Given the description of an element on the screen output the (x, y) to click on. 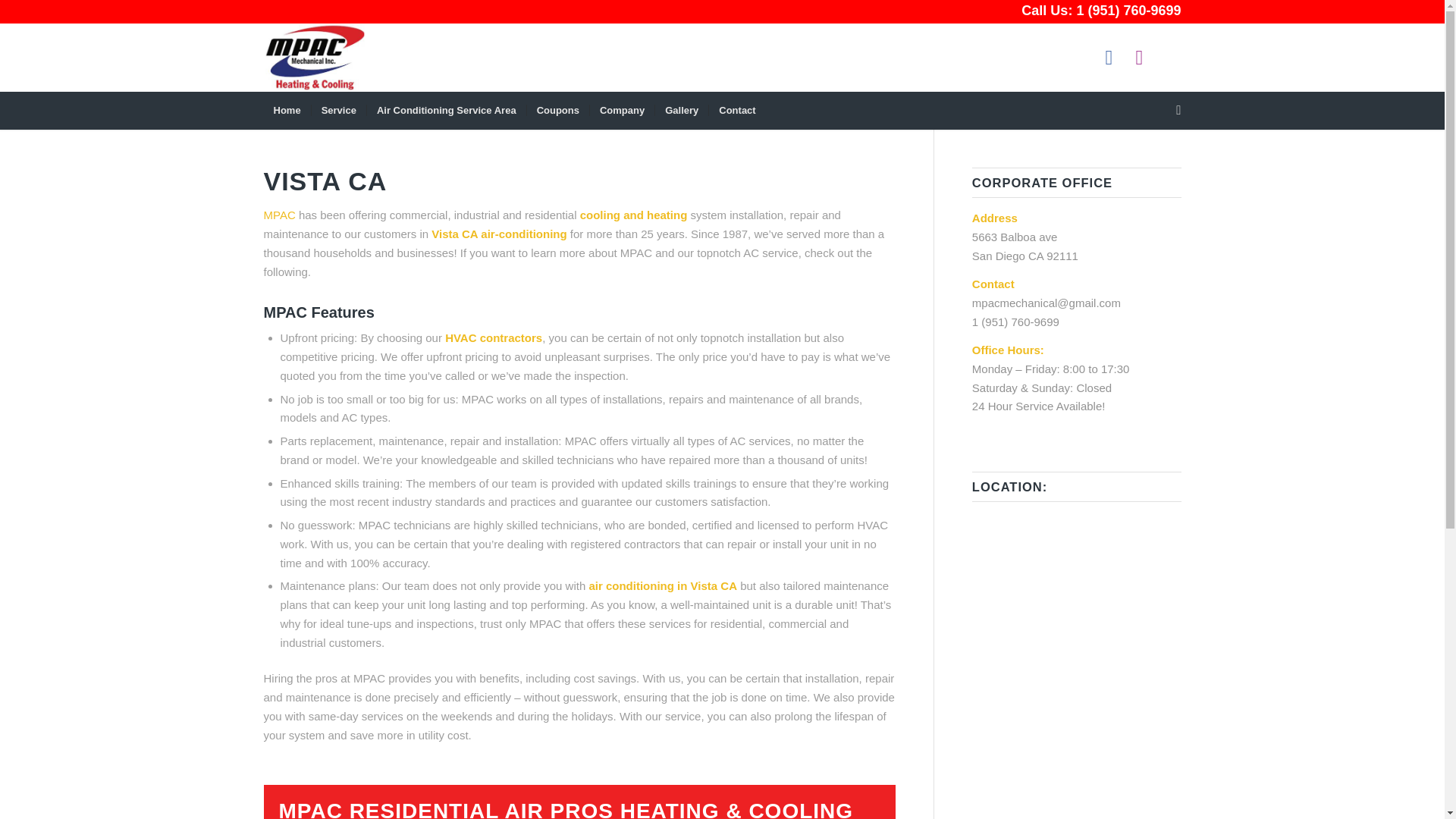
Home (287, 110)
Coupons (557, 110)
Contact (736, 110)
Service (338, 110)
Gallery (680, 110)
Air Conditioning Service Area (445, 110)
Company (621, 110)
MPAC (279, 214)
